Given the description of an element on the screen output the (x, y) to click on. 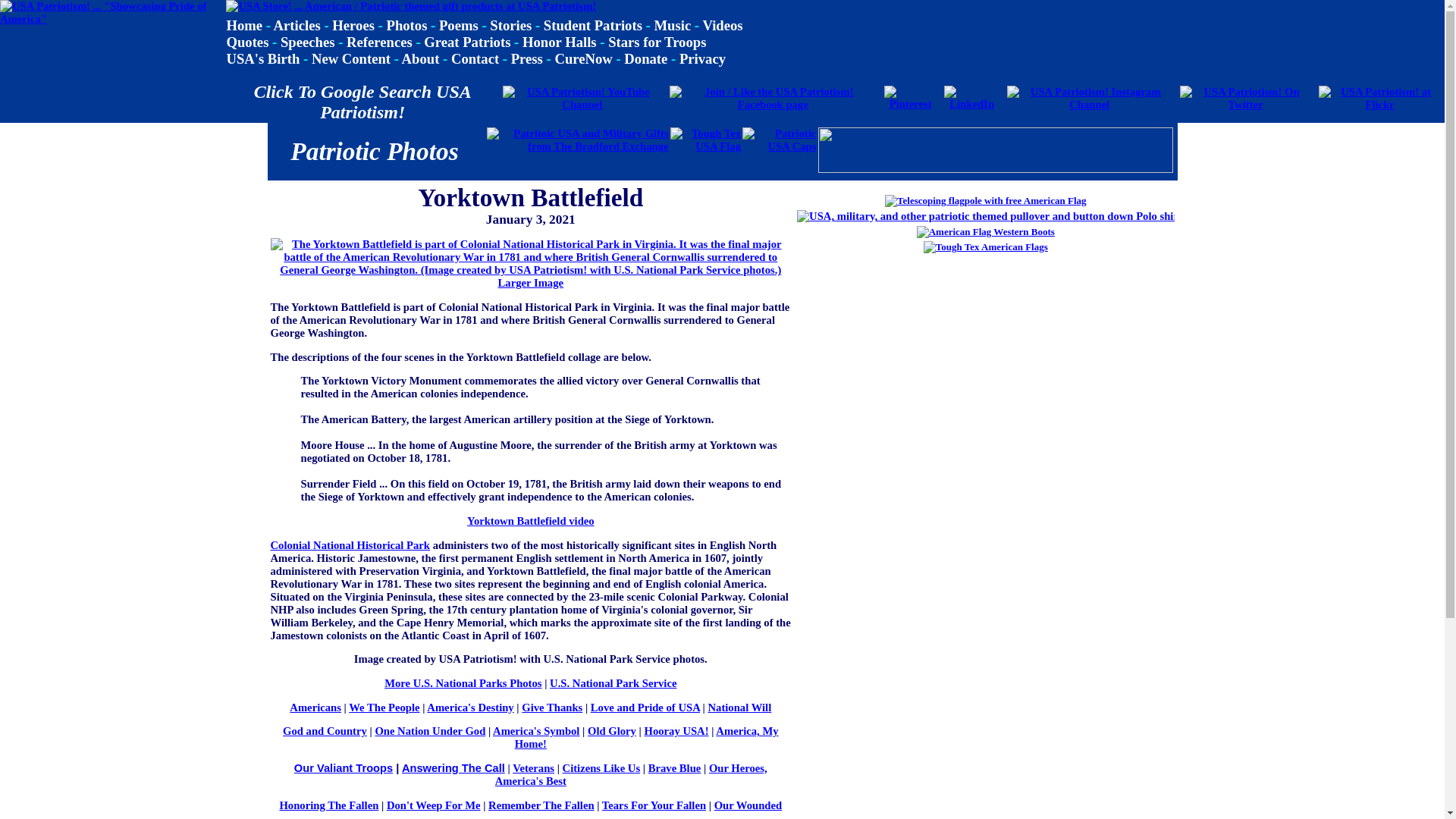
Patriotic Photos (373, 151)
Speeches (307, 41)
Heroes (352, 25)
Click To Google Search USA Patriotism! (362, 101)
Donate (645, 58)
Student Patriots (592, 25)
Videos (721, 25)
Stories (510, 25)
Home (243, 25)
References (379, 41)
